Given the description of an element on the screen output the (x, y) to click on. 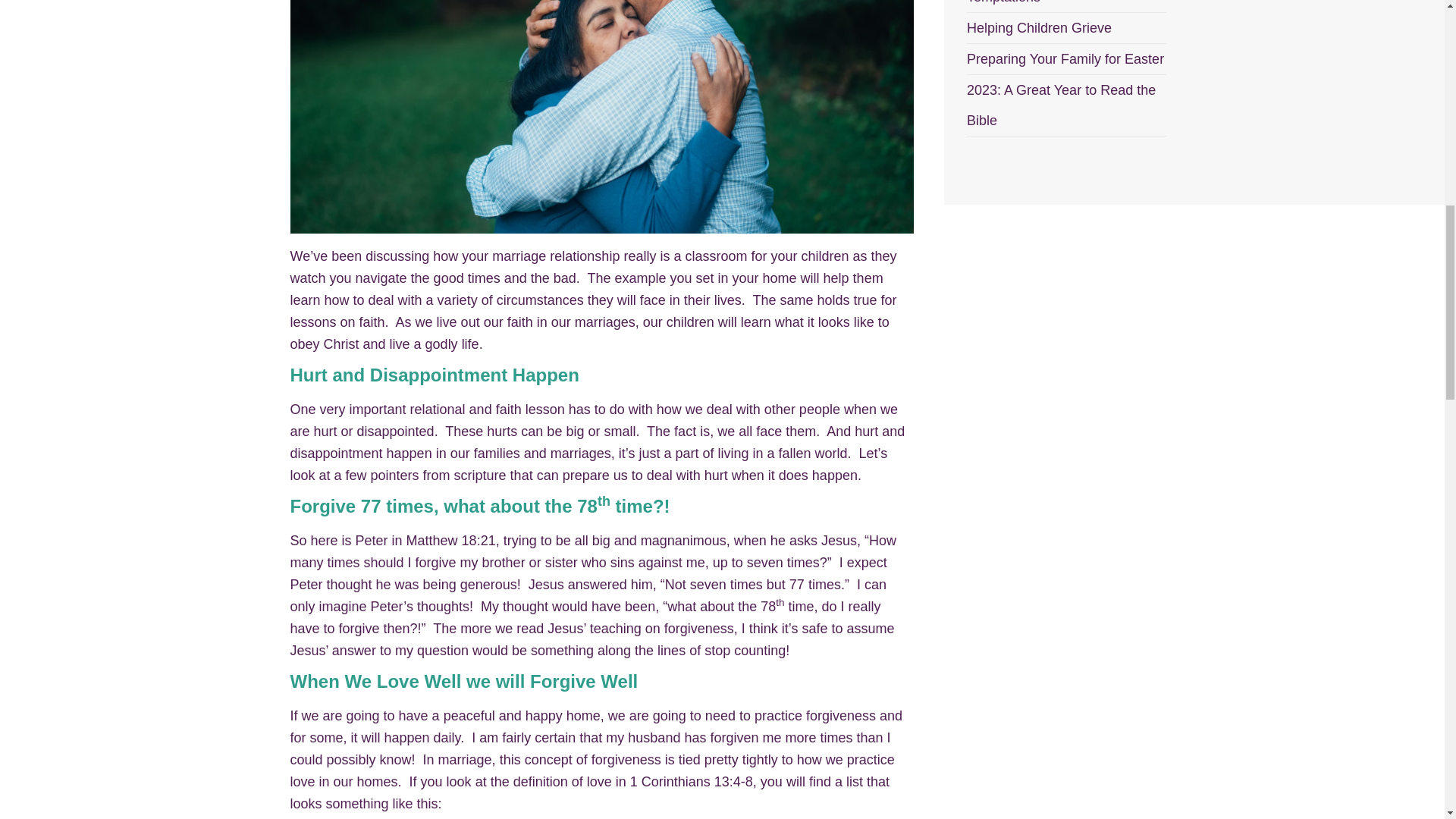
2023: A Great Year to Read the Bible (1061, 104)
Preparing Your Family for Easter (1064, 58)
Protection From Screen Temptations (1038, 2)
Helping Children Grieve (1039, 28)
